Given the description of an element on the screen output the (x, y) to click on. 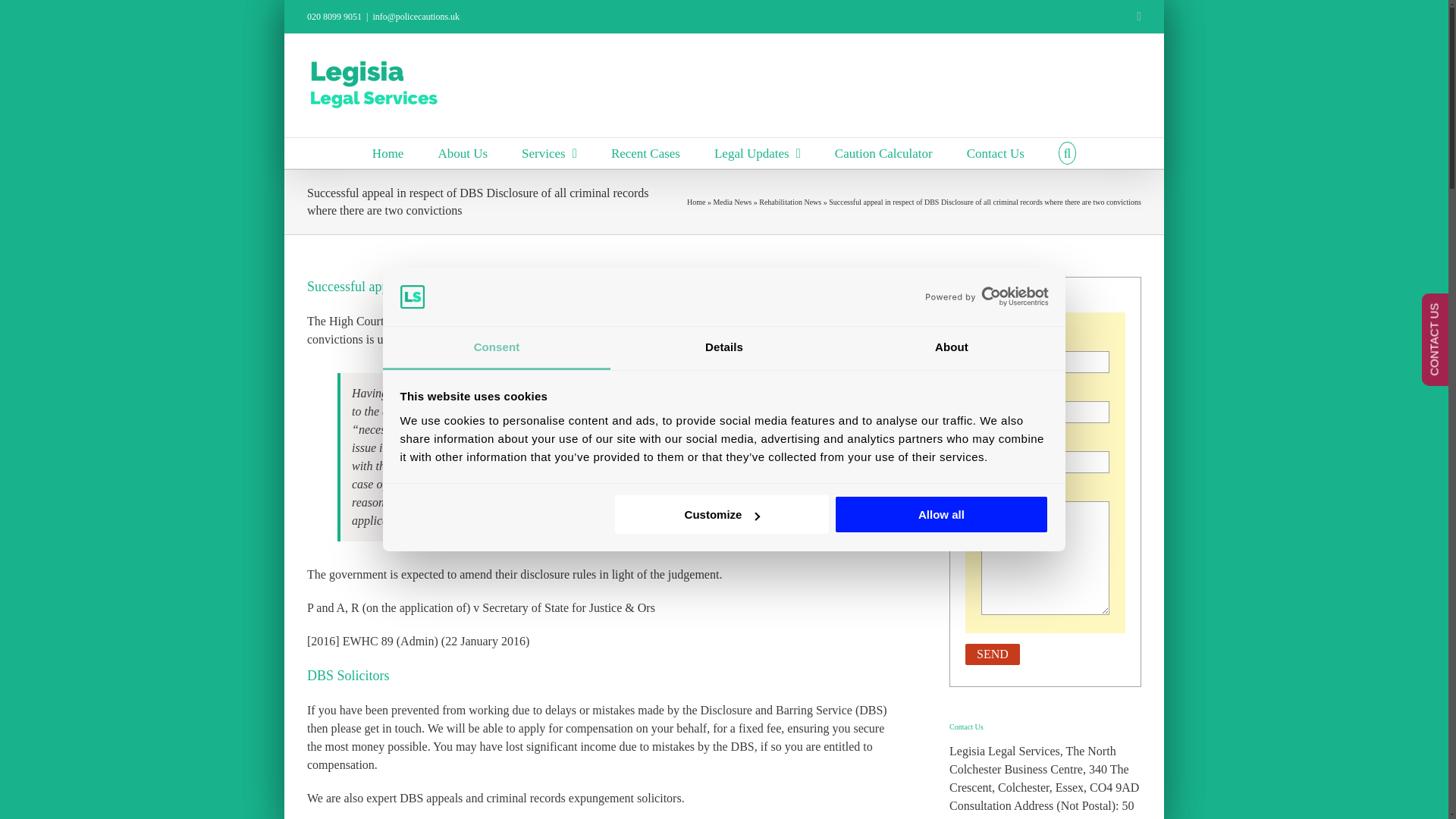
Consent (496, 348)
About (951, 348)
Customize (721, 514)
Allow all (941, 514)
Send (992, 654)
020 8099 9051 (334, 16)
Details (724, 348)
